Given the description of an element on the screen output the (x, y) to click on. 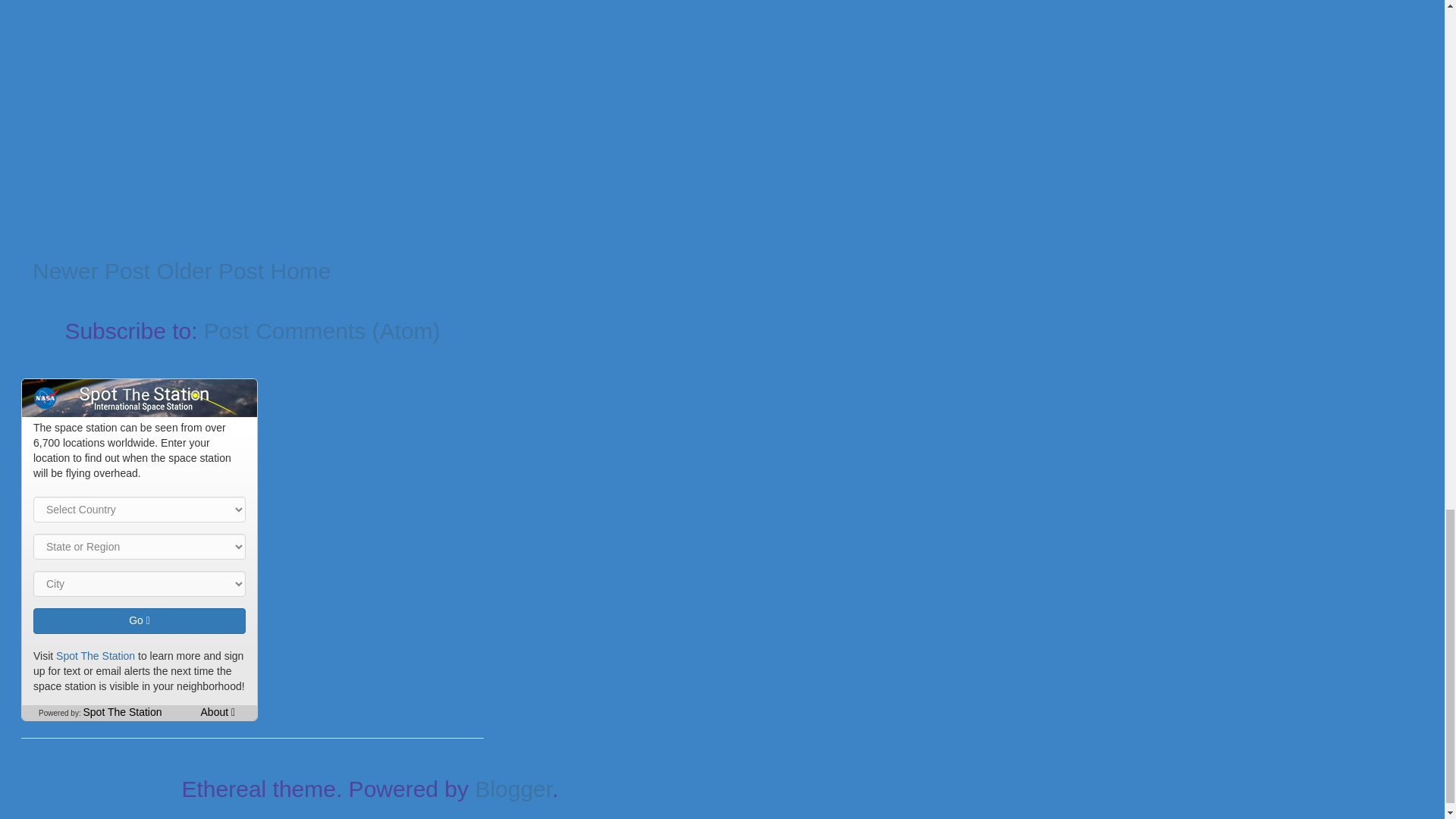
Older Post (209, 270)
Older Post (209, 270)
Newer Post (90, 270)
Newer Post (90, 270)
Home (299, 270)
Blogger (512, 788)
